Given the description of an element on the screen output the (x, y) to click on. 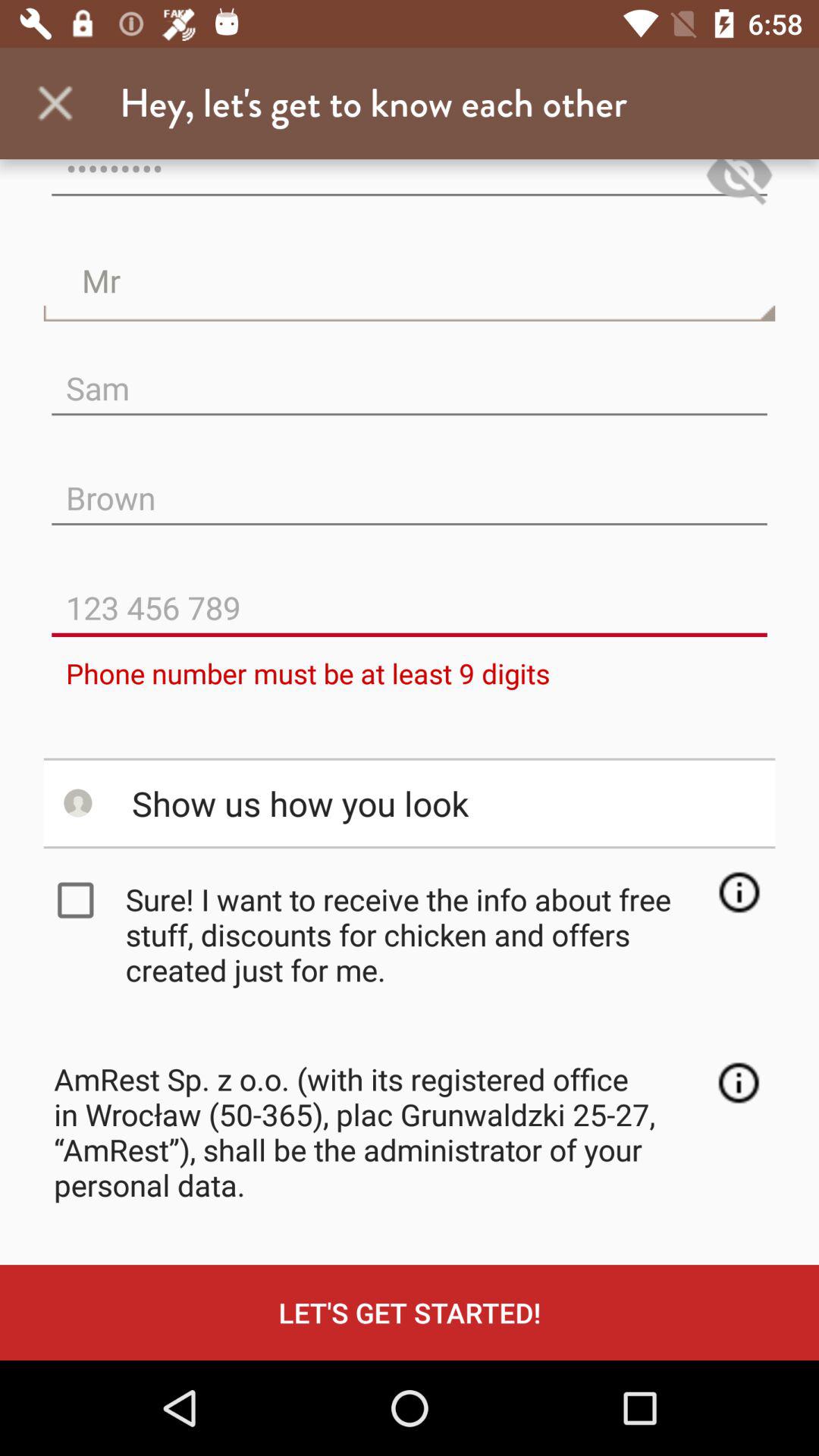
information button (738, 1082)
